Given the description of an element on the screen output the (x, y) to click on. 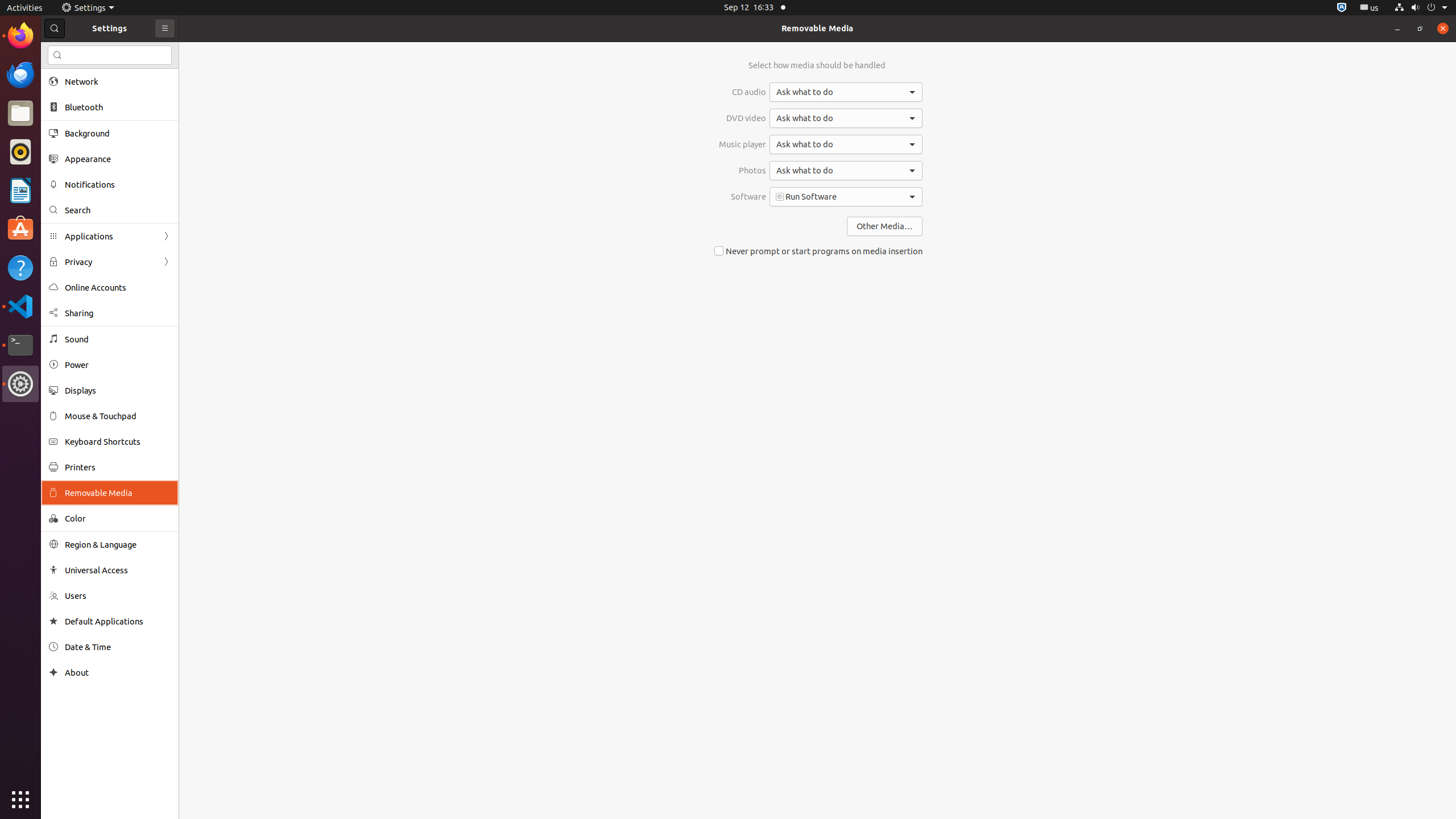
Bluetooth Element type: label (117, 107)
Privacy Element type: label (109, 261)
Power Element type: label (117, 364)
Printers Element type: label (117, 467)
Universal Access Element type: label (117, 570)
